Given the description of an element on the screen output the (x, y) to click on. 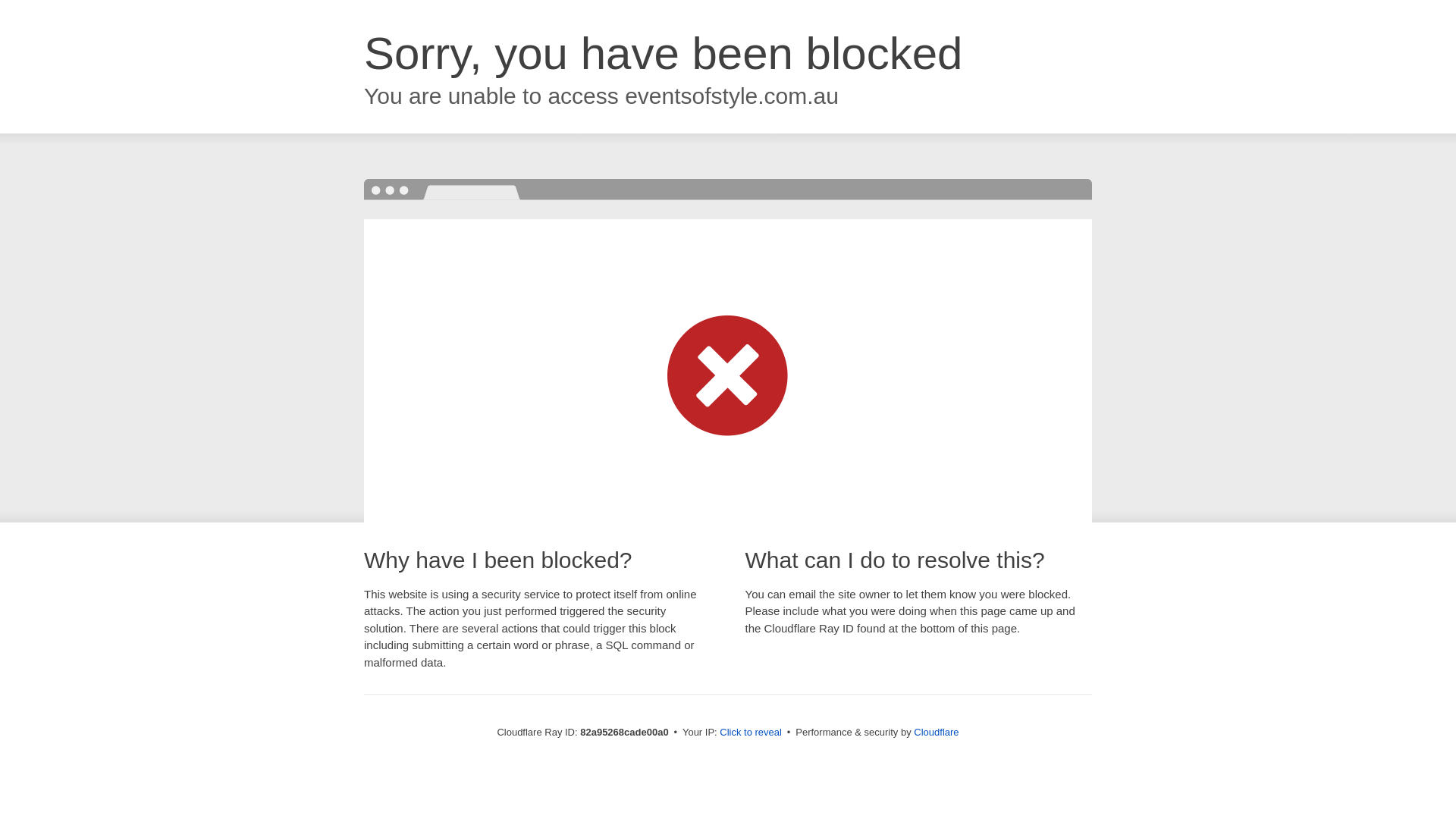
Cloudflare Element type: text (935, 731)
Click to reveal Element type: text (750, 732)
